Given the description of an element on the screen output the (x, y) to click on. 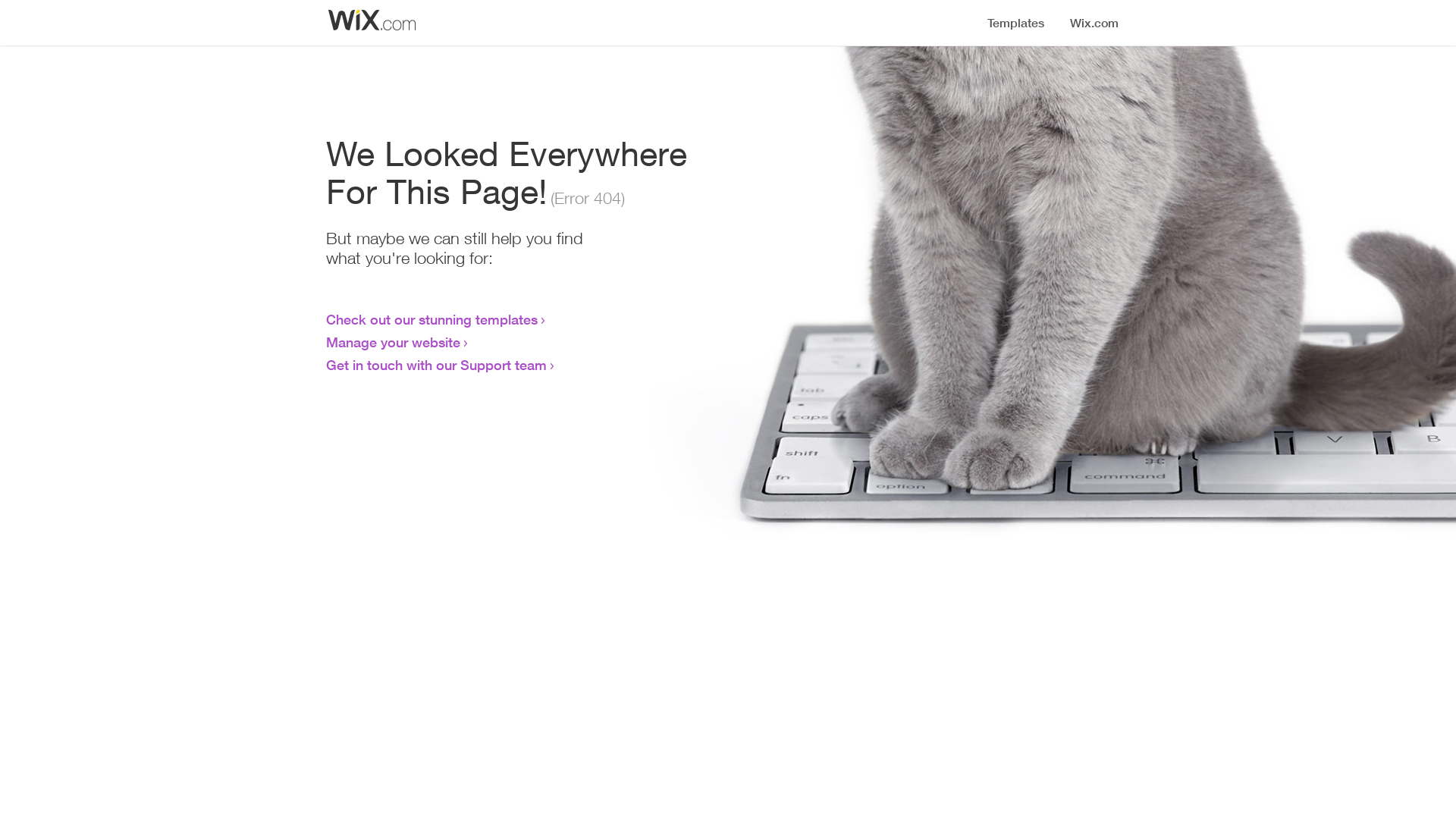
Check out our stunning templates Element type: text (431, 318)
Manage your website Element type: text (393, 341)
Get in touch with our Support team Element type: text (436, 364)
